Given the description of an element on the screen output the (x, y) to click on. 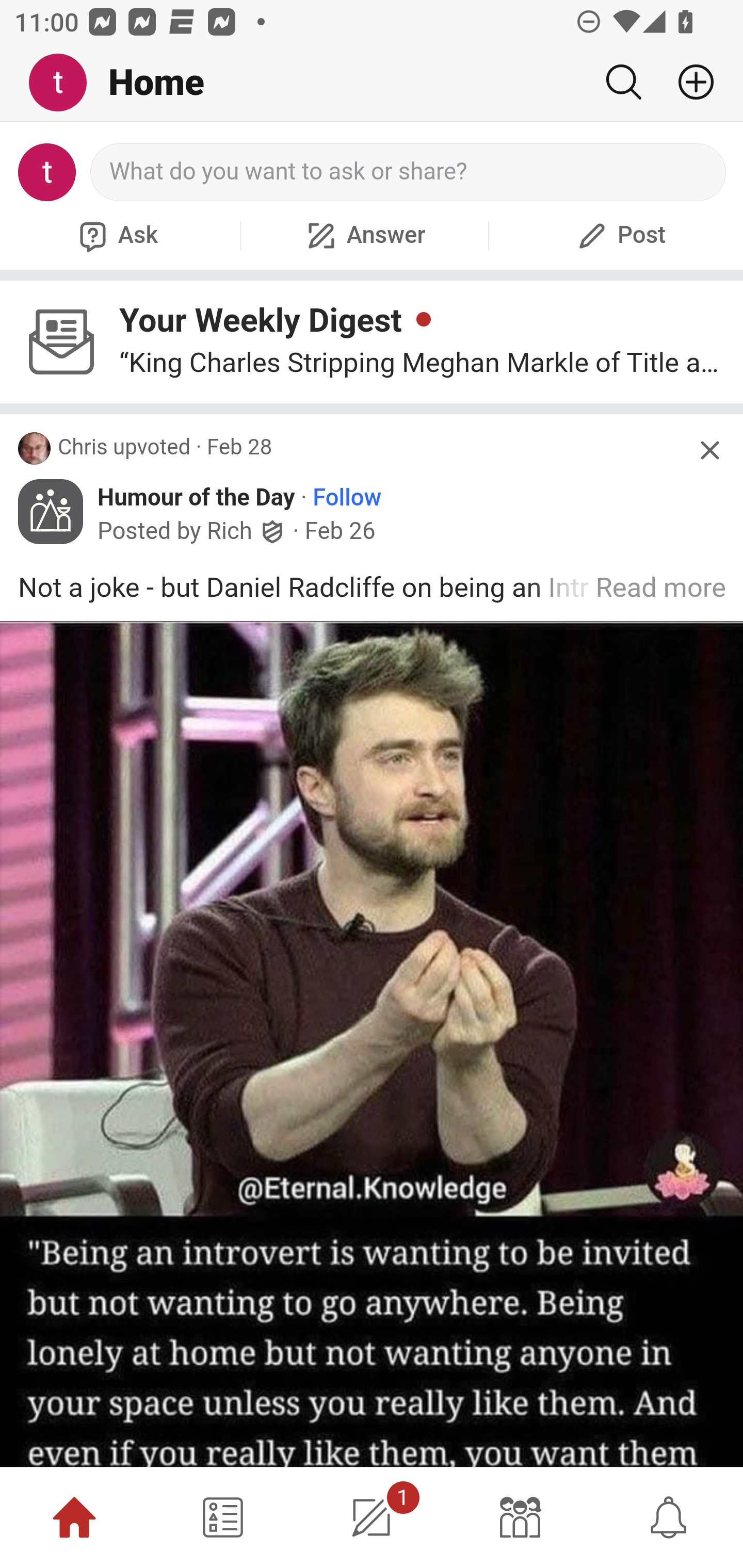
Me (64, 83)
Search (623, 82)
Add (688, 82)
What do you want to ask or share? (408, 172)
Ask (116, 234)
Answer (364, 234)
Post (618, 234)
Hide (709, 449)
Profile photo for Chris Harrington (34, 448)
Icon for Humour of the Day (50, 512)
Humour of the Day (196, 497)
Follow (347, 498)
1 (371, 1517)
